Given the description of an element on the screen output the (x, y) to click on. 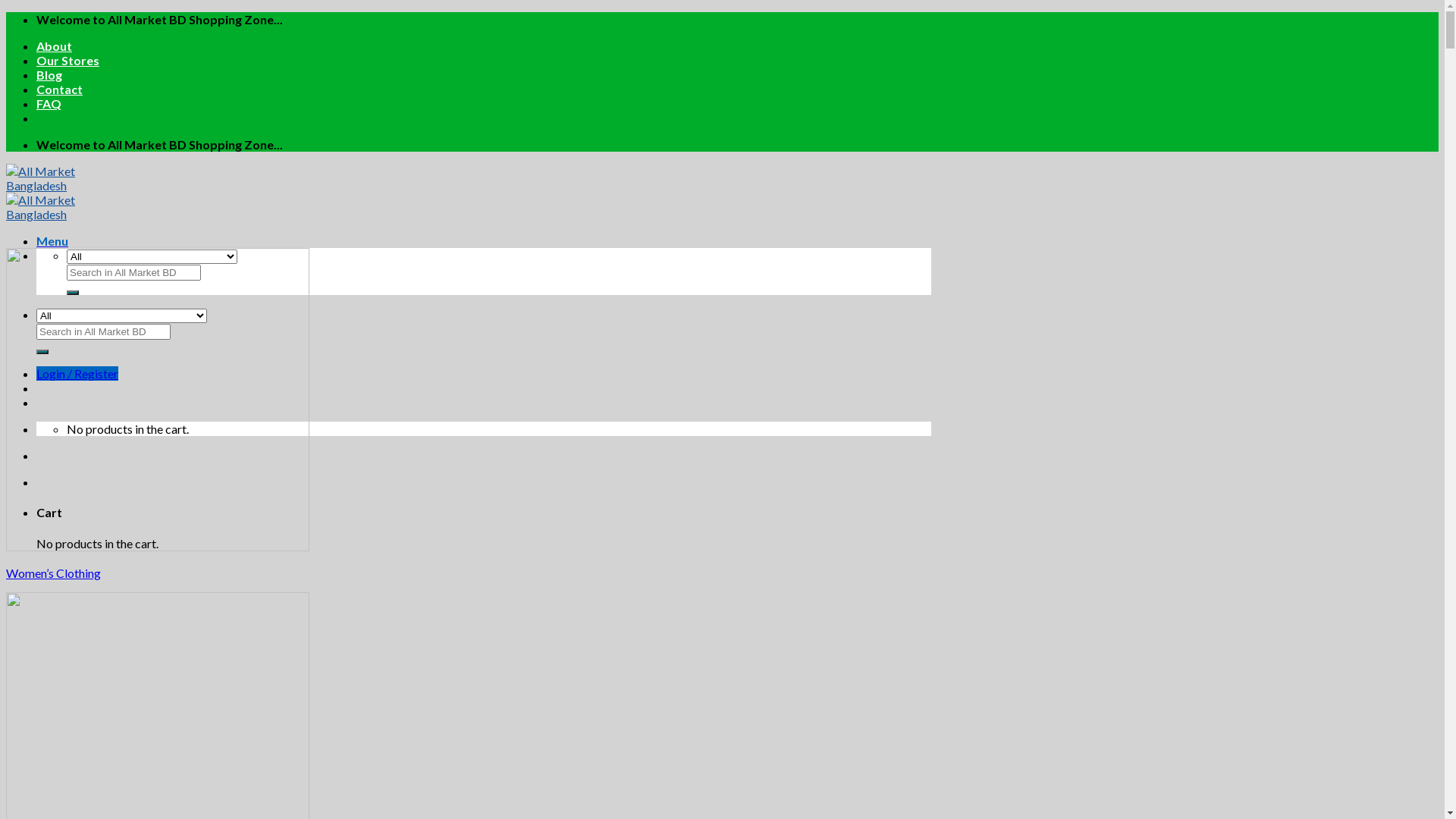
Search Element type: text (42, 351)
Contact Element type: text (59, 88)
Menu Element type: text (52, 240)
About Element type: text (54, 45)
Blog Element type: text (49, 74)
Skip to content Element type: text (5, 11)
Login / Register Element type: text (77, 373)
FAQ Element type: text (48, 103)
Search Element type: text (72, 292)
Our Stores Element type: text (67, 60)
